Given the description of an element on the screen output the (x, y) to click on. 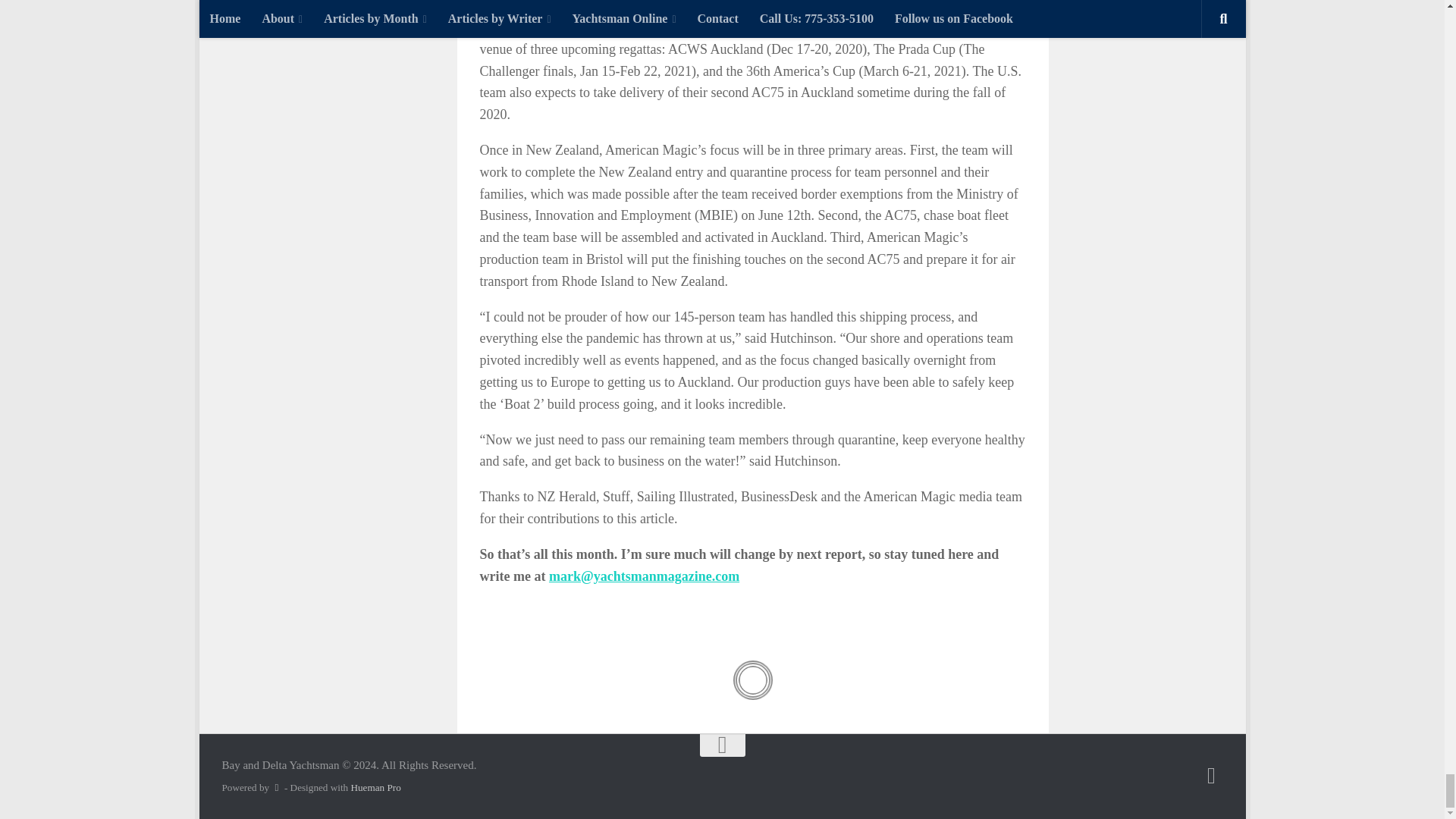
Hueman Pro (375, 787)
Call us (1211, 775)
Powered by WordPress (275, 787)
